Given the description of an element on the screen output the (x, y) to click on. 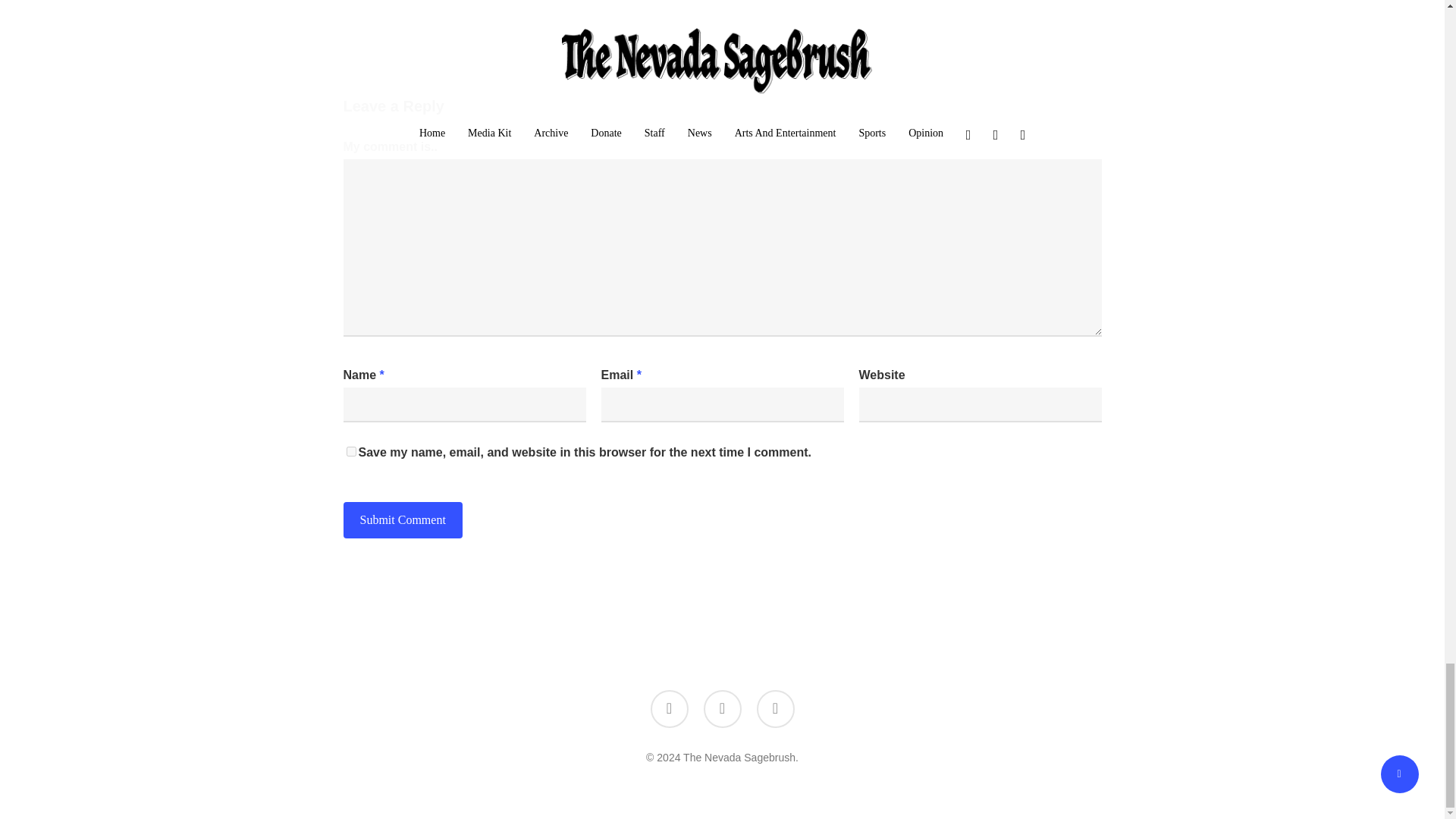
yes (350, 451)
Submit Comment (401, 520)
